Given the description of an element on the screen output the (x, y) to click on. 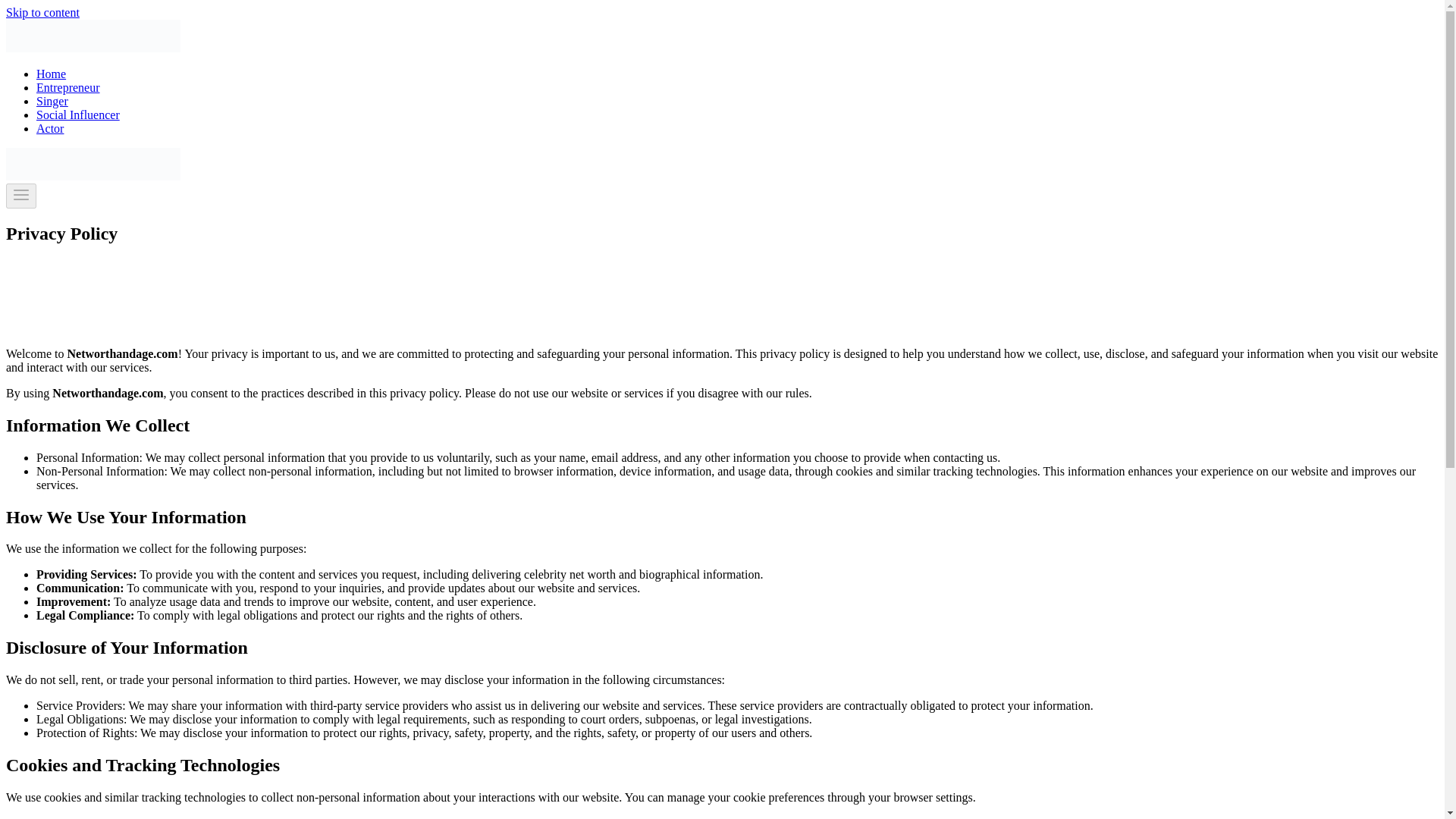
Social Influencer (77, 114)
Toggle Menu (20, 195)
Home (50, 73)
Entrepreneur (68, 87)
Actor (50, 128)
Skip to content (42, 11)
Skip to content (42, 11)
Singer (52, 101)
Toggle Menu (20, 194)
